Given the description of an element on the screen output the (x, y) to click on. 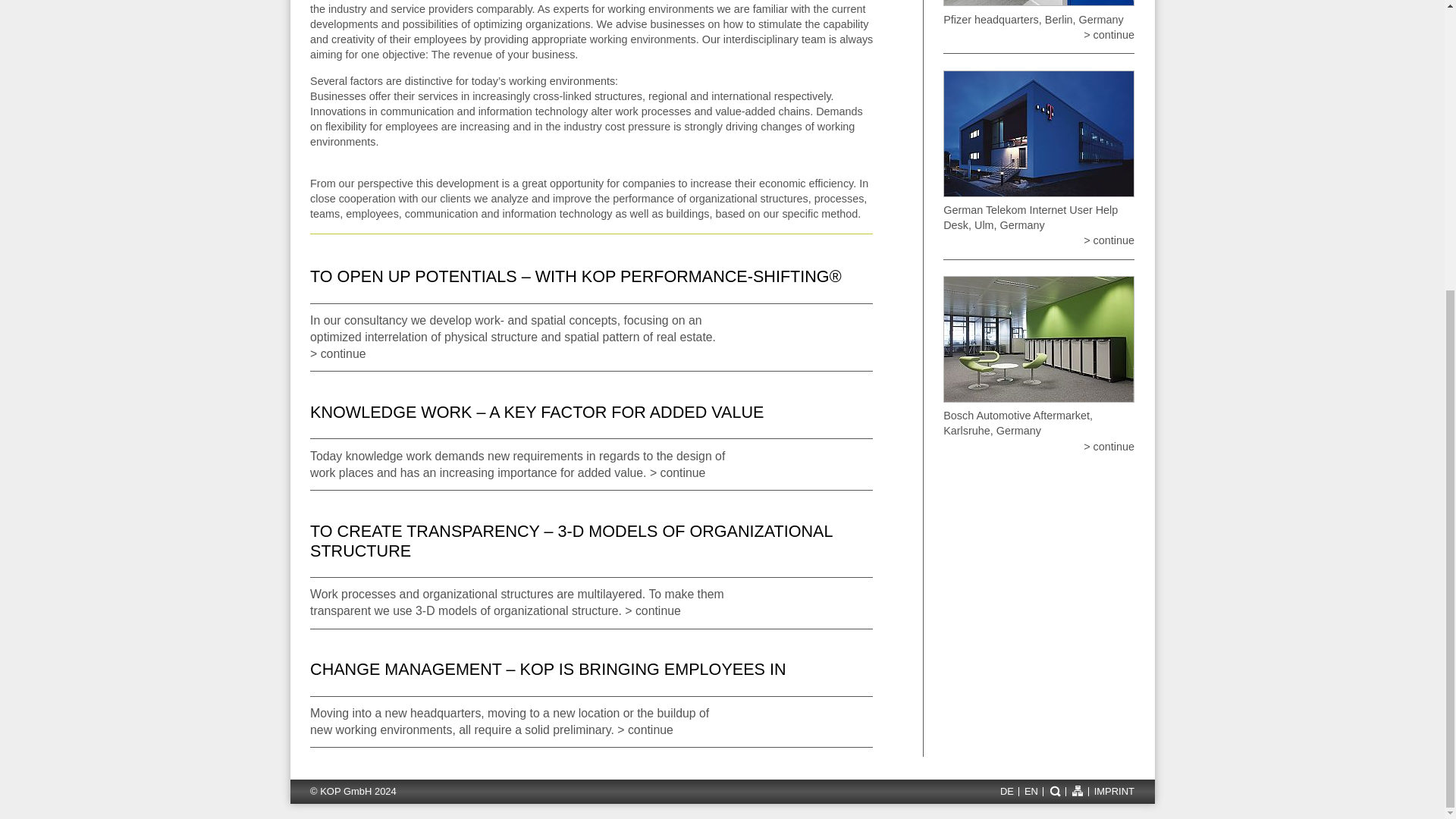
en (1030, 791)
SEARCH (1054, 790)
SITEMAP (1076, 790)
IMPRINT (1111, 791)
de (1005, 791)
DE (1005, 791)
Imprint (1111, 791)
Sitemap (1076, 790)
Search (1054, 790)
EN (1030, 791)
